Given the description of an element on the screen output the (x, y) to click on. 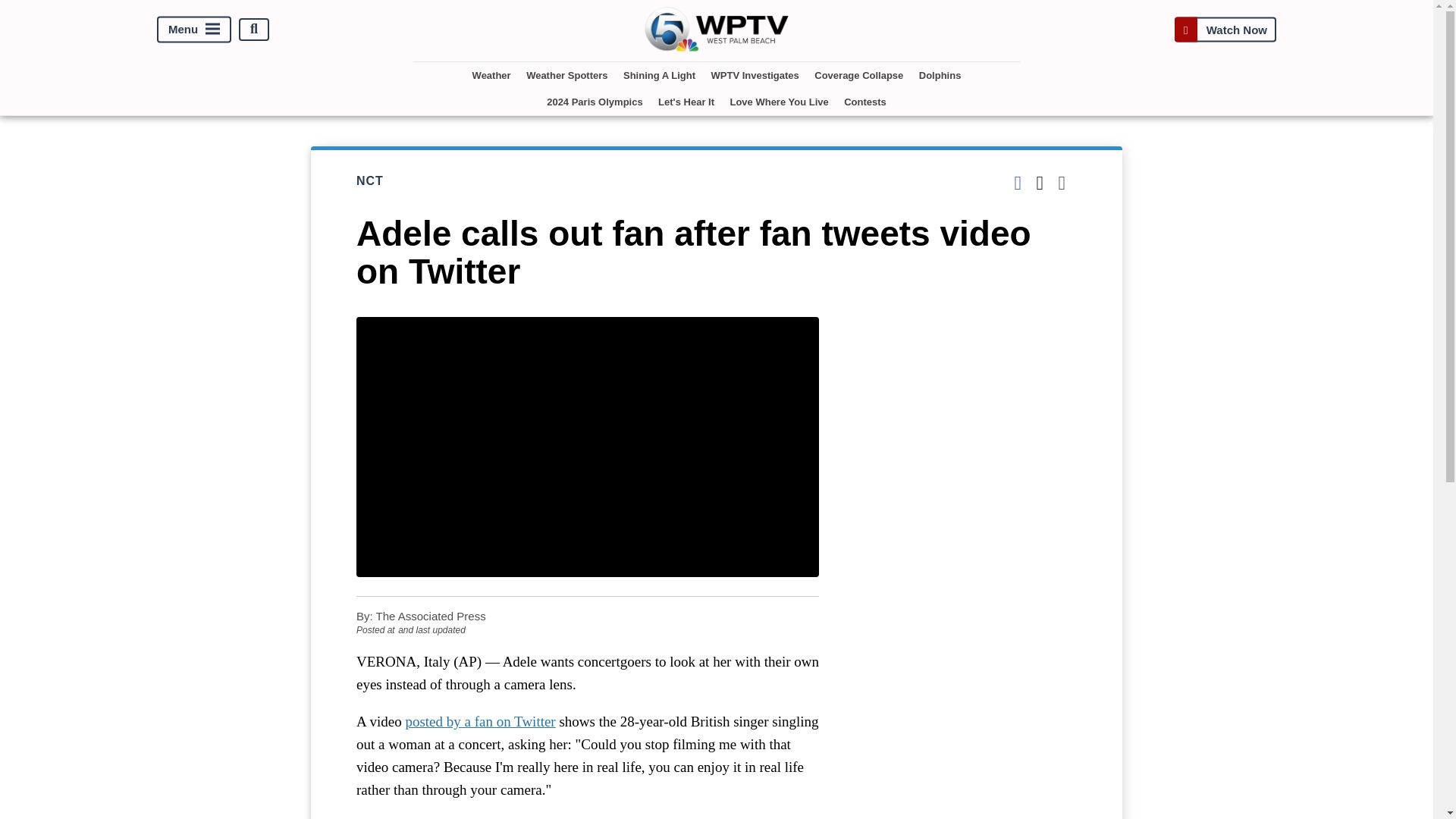
Watch Now (1224, 29)
Menu (194, 28)
